Given the description of an element on the screen output the (x, y) to click on. 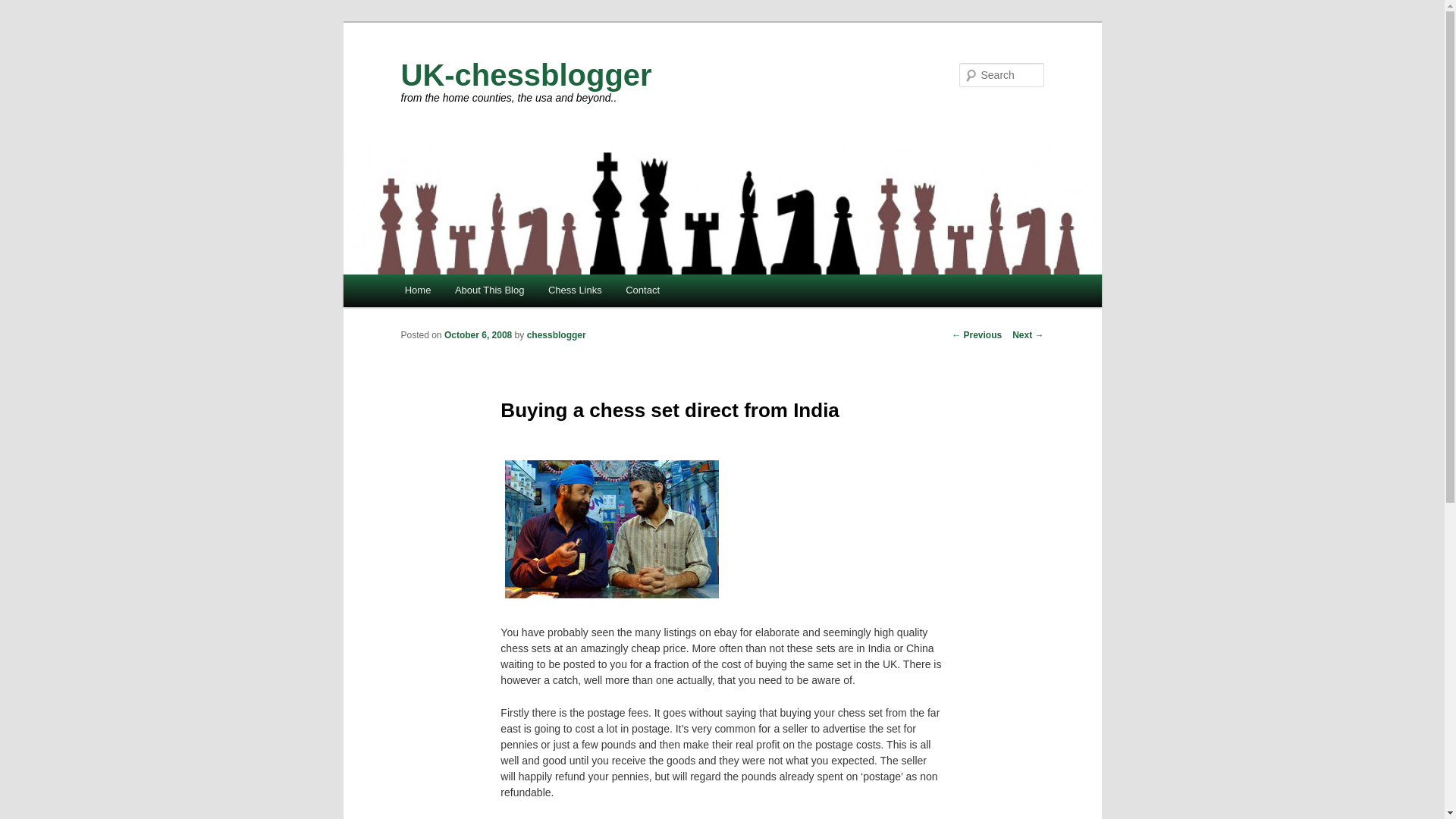
indian-chess-deal (611, 528)
Skip to secondary content (474, 291)
About This Blog (488, 289)
UK-chessblogger (525, 74)
10:16 pm (478, 335)
Search (22, 8)
October 6, 2008 (478, 335)
Skip to secondary content (474, 291)
chessblogger (556, 335)
Contact (641, 289)
